Given the description of an element on the screen output the (x, y) to click on. 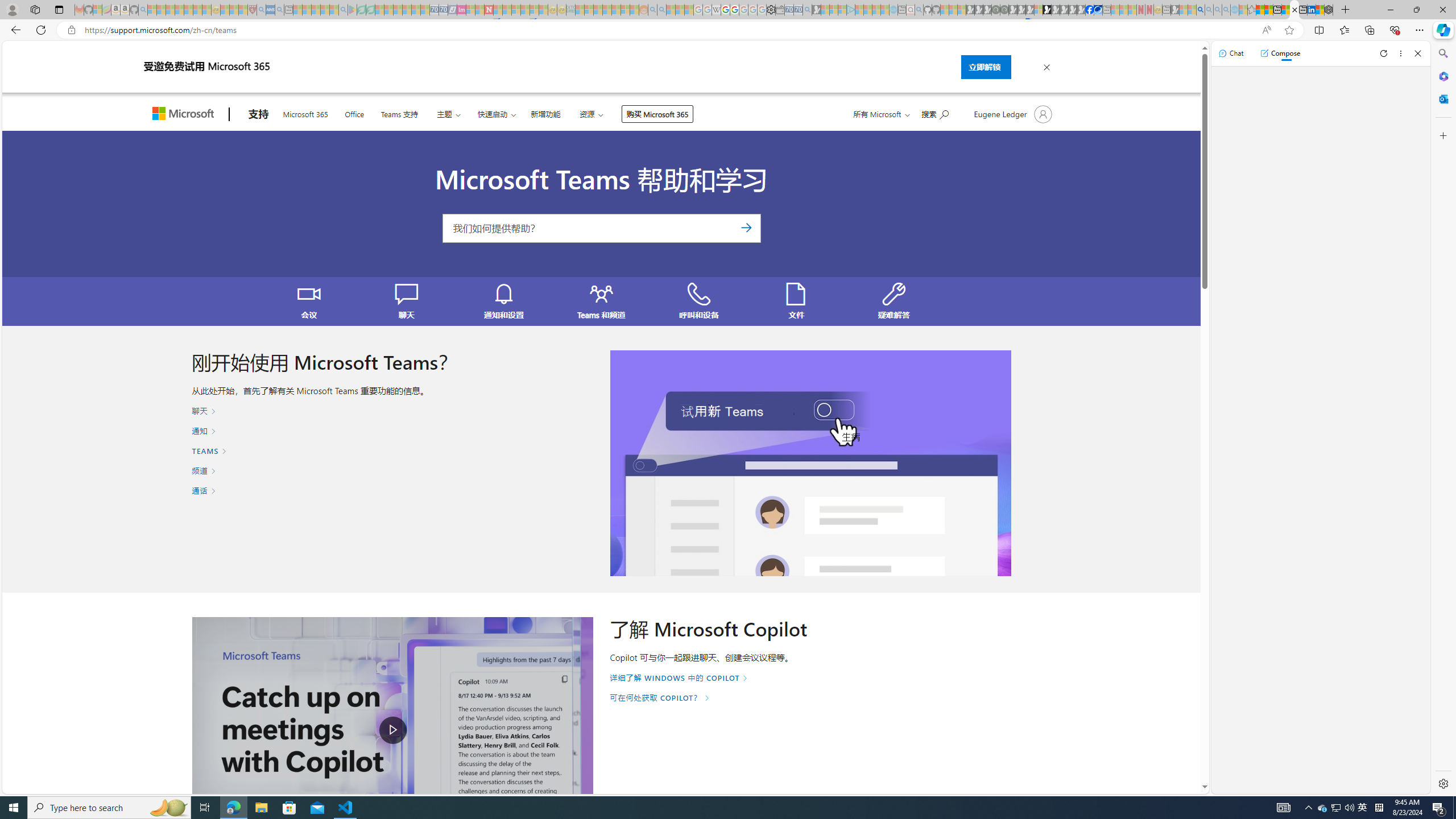
Target page - Wikipedia - Sleeping (716, 9)
